Given the description of an element on the screen output the (x, y) to click on. 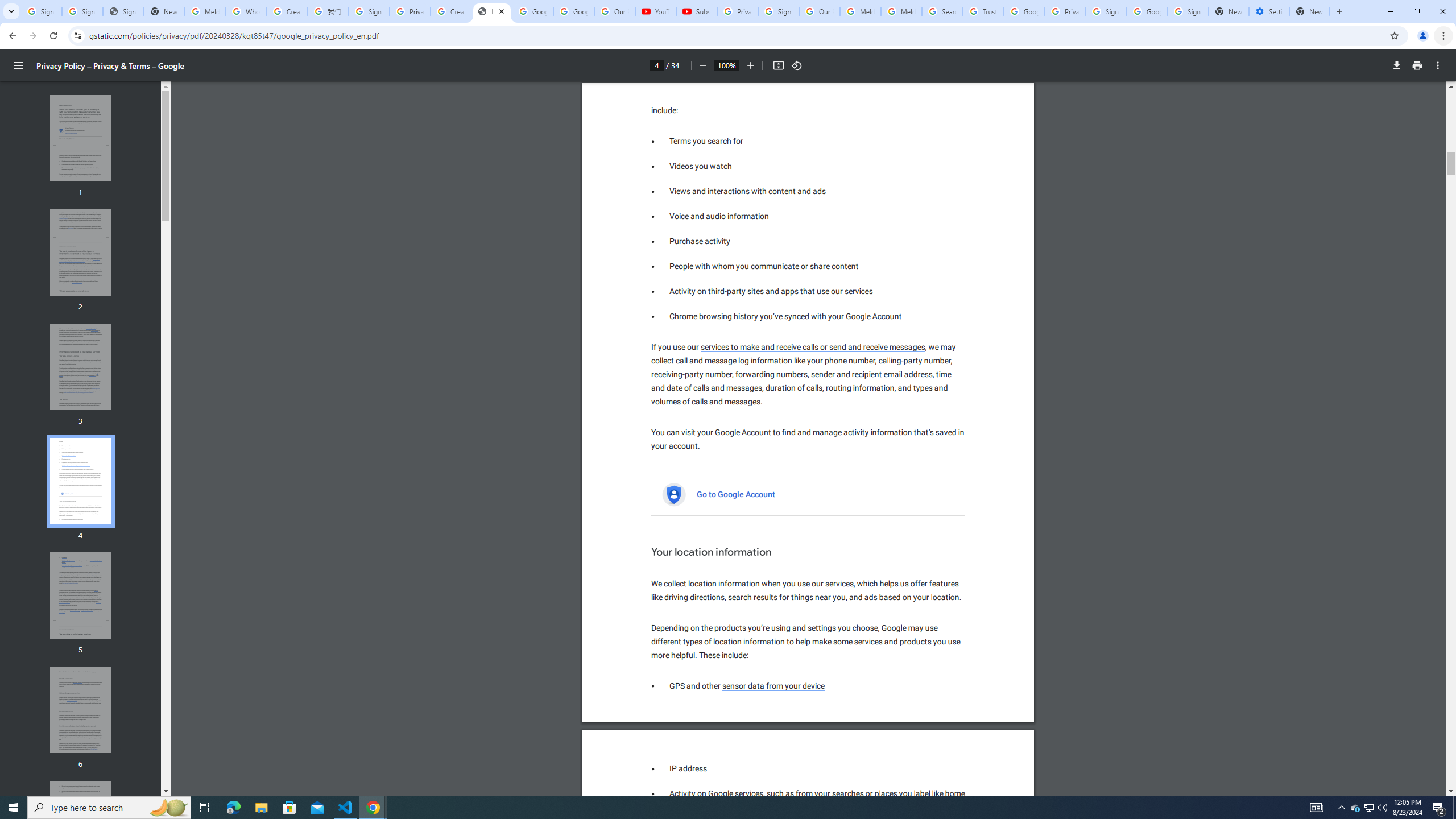
Create your Google Account (450, 11)
Reload (52, 35)
Back (10, 35)
New Tab (1309, 11)
Sign in - Google Accounts (368, 11)
Menu (17, 65)
Google Cybersecurity Innovations - Google Safety Center (1146, 11)
Google Account (573, 11)
Thumbnail for page 1 (80, 138)
